Given the description of an element on the screen output the (x, y) to click on. 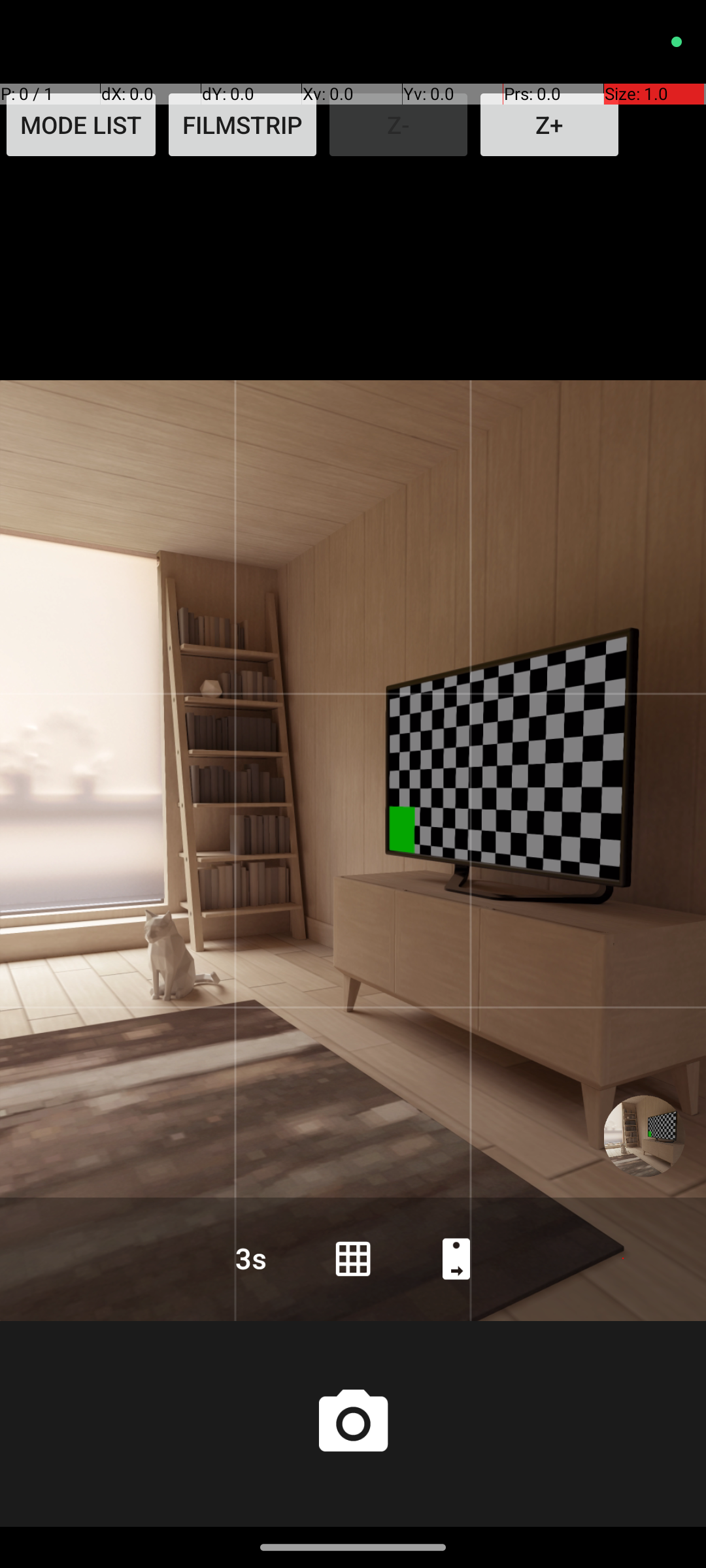
Countdown timer duration is set to 3 seconds Element type: android.widget.ImageButton (249, 1258)
Grid lines on Element type: android.widget.ImageButton (352, 1258)
